Given the description of an element on the screen output the (x, y) to click on. 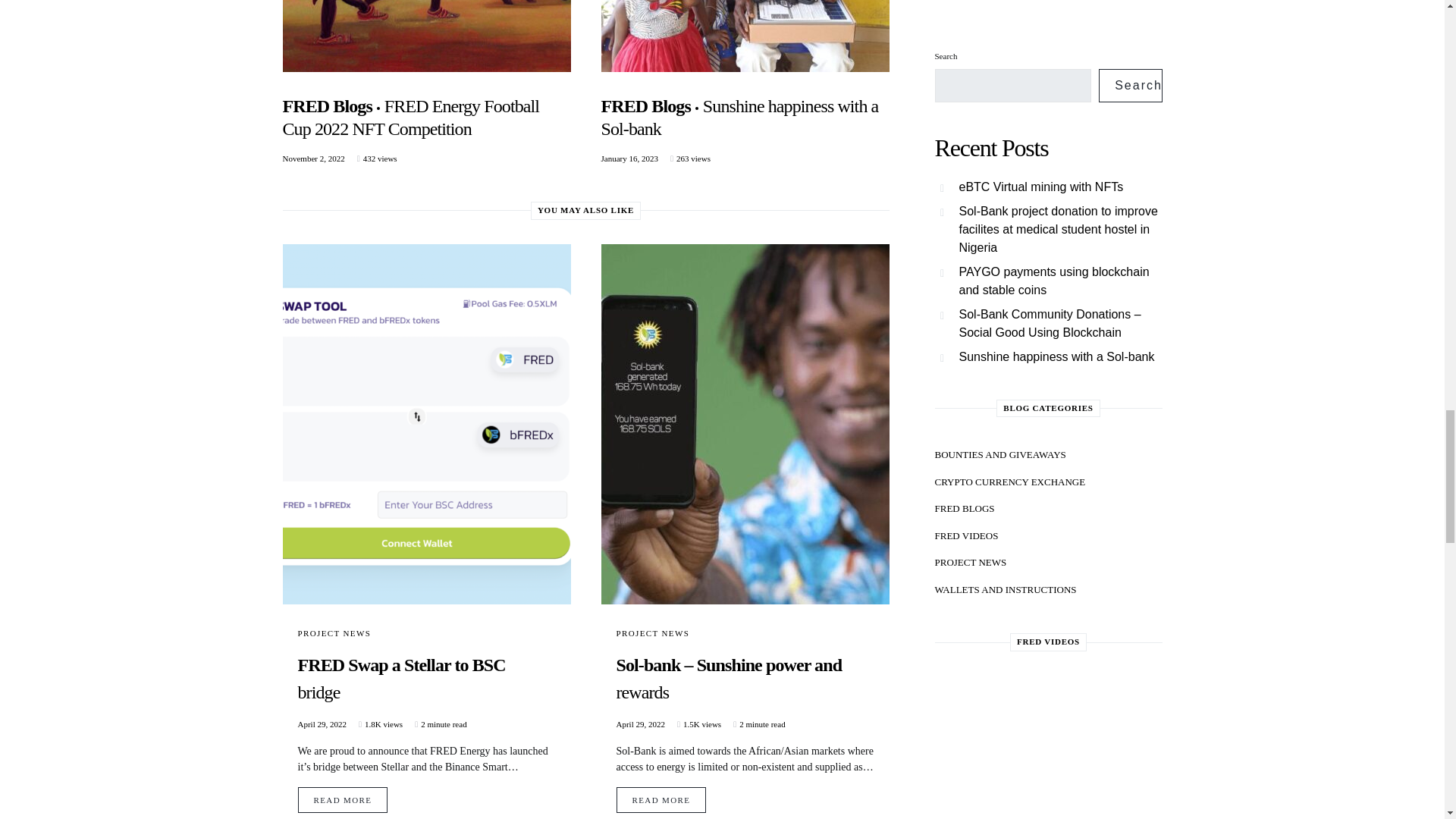
FRED Swap a Stellar to BSC bridge (425, 691)
Sunshine happiness with a Sol-bank (738, 117)
FRED Energy Football Cup 2022 NFT Competition (410, 117)
